Given the description of an element on the screen output the (x, y) to click on. 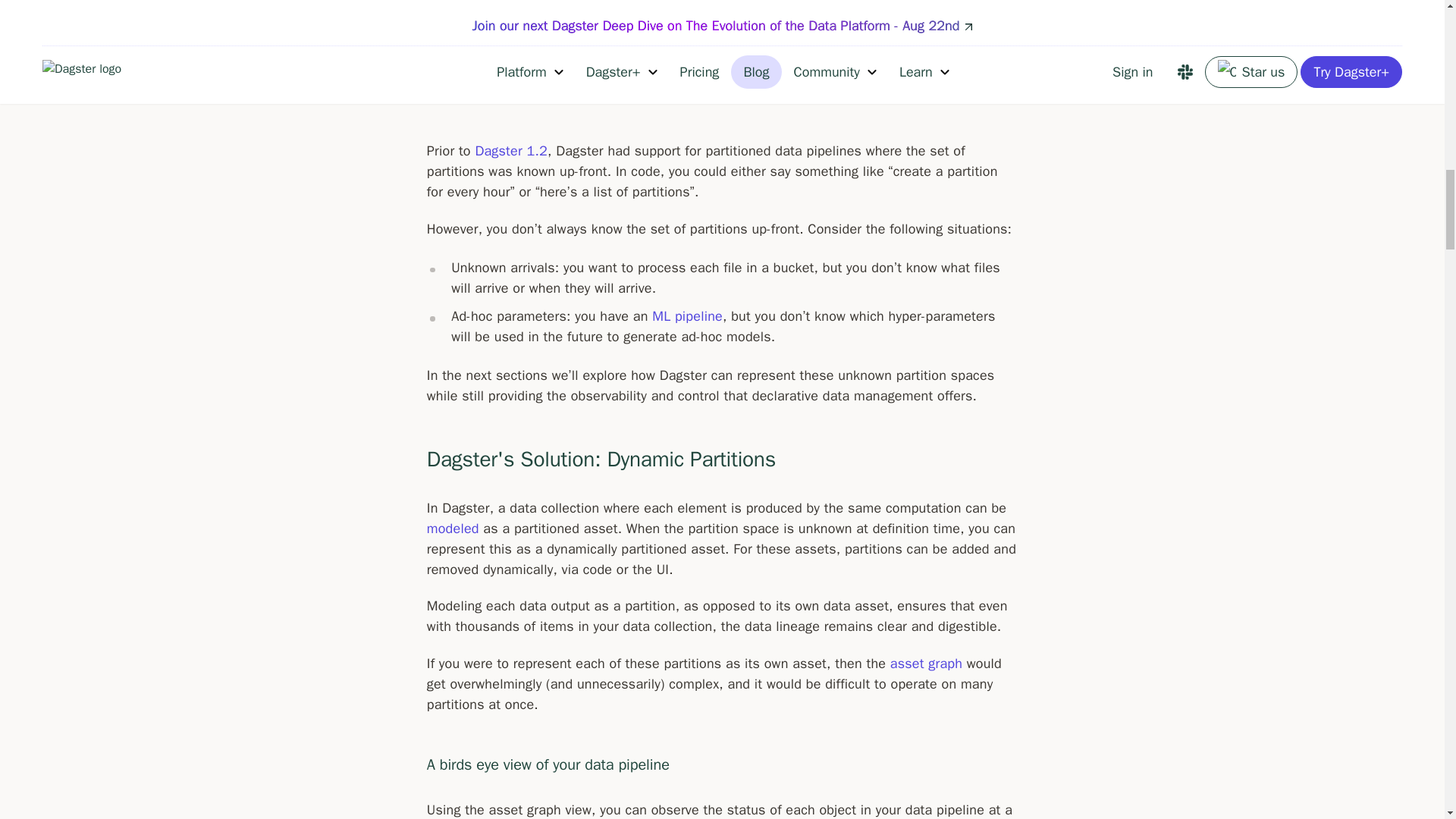
modeled (452, 528)
ML pipeline (687, 315)
Dagster 1.2 (510, 150)
